Given the description of an element on the screen output the (x, y) to click on. 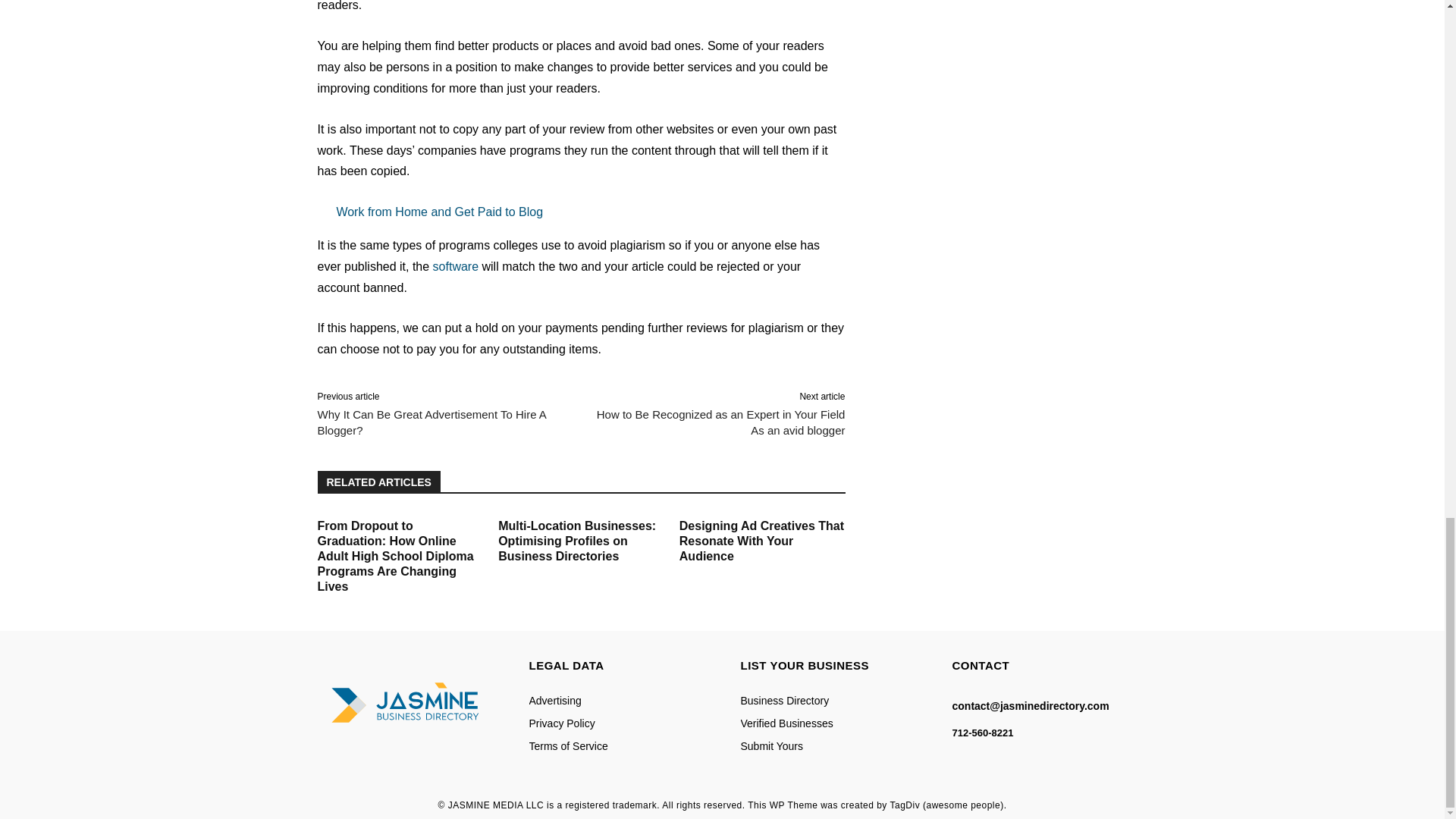
software (455, 266)
712-560-8221 (982, 732)
Why It Can Be Great Advertisement To Hire A Blogger? (431, 421)
software (455, 266)
  Work from Home and Get Paid to Blog (580, 211)
Designing Ad Creatives That Resonate With Your Audience (761, 540)
